Given the description of an element on the screen output the (x, y) to click on. 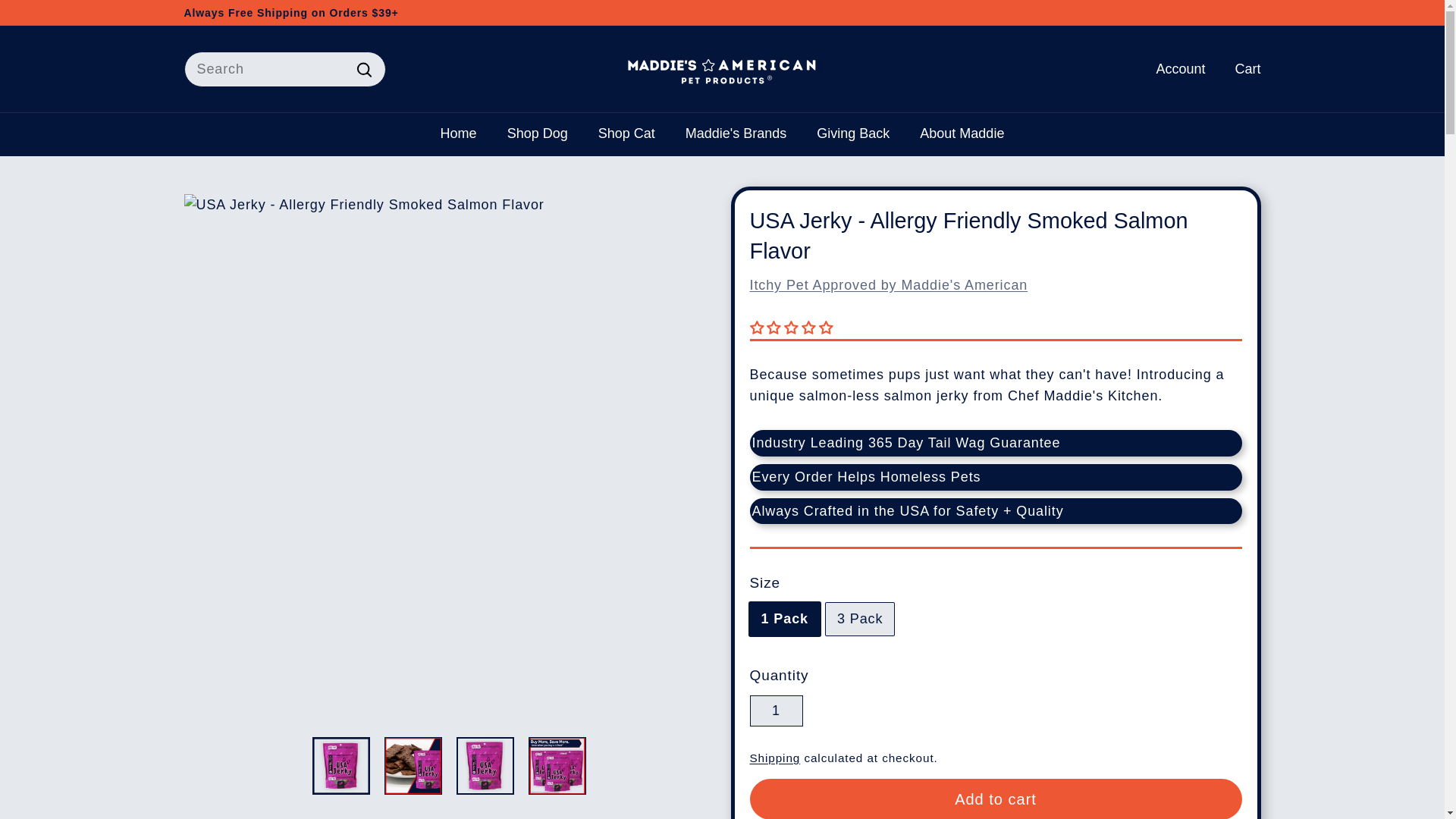
Facebook (1240, 12)
Account (1174, 68)
Maddie's American Pet Products on Pinterest (1248, 12)
Maddie's American Pet Products on TikTok (1256, 12)
Home (458, 133)
Itchy Pet Approved by Maddie's American (888, 284)
Maddie's American Pet Products on Facebook (1240, 12)
